Given the description of an element on the screen output the (x, y) to click on. 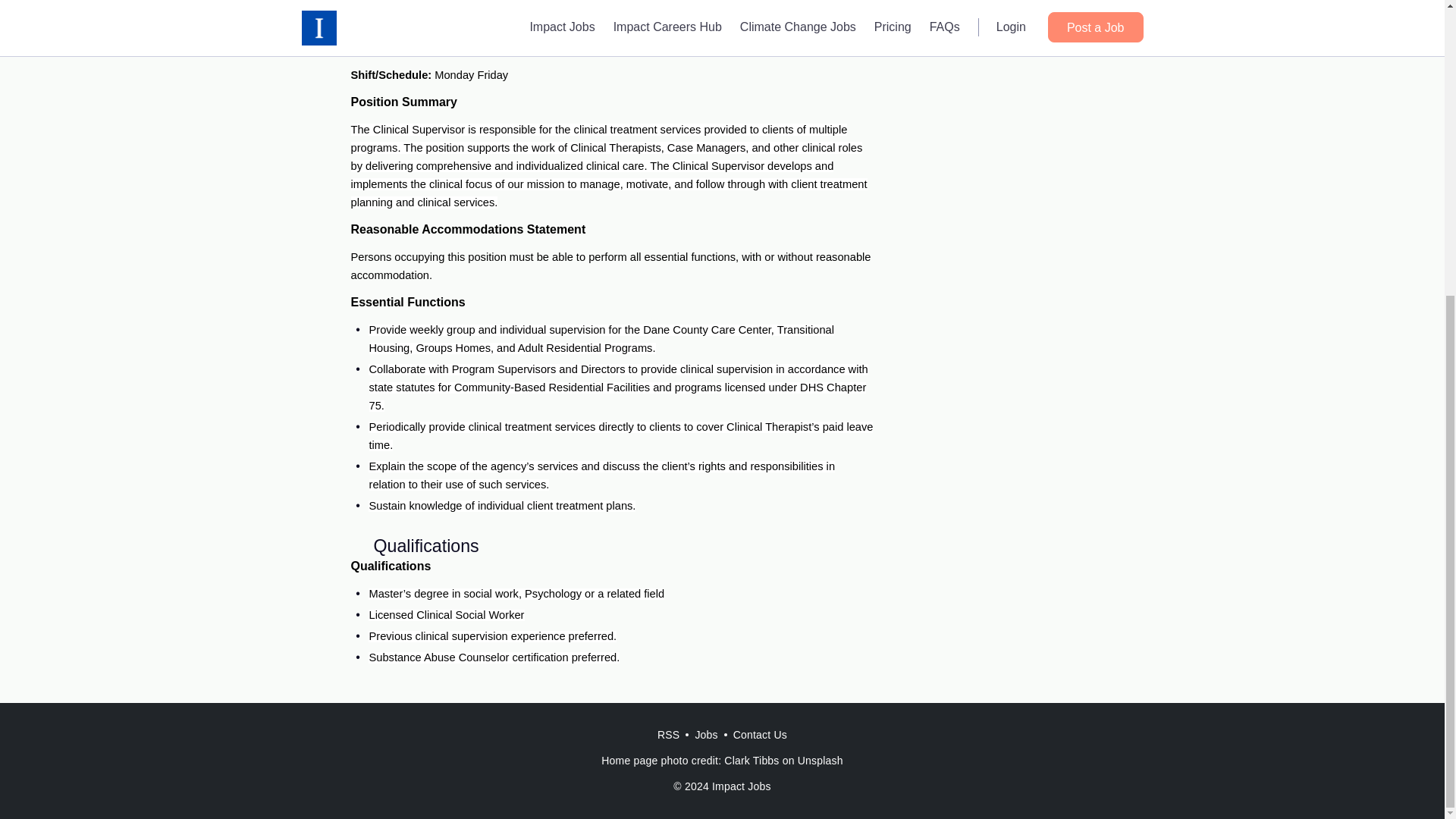
Jobs (706, 734)
Unsplash (820, 760)
RSS (668, 734)
Contact Us (759, 734)
Clark Tibbs (750, 760)
